Given the description of an element on the screen output the (x, y) to click on. 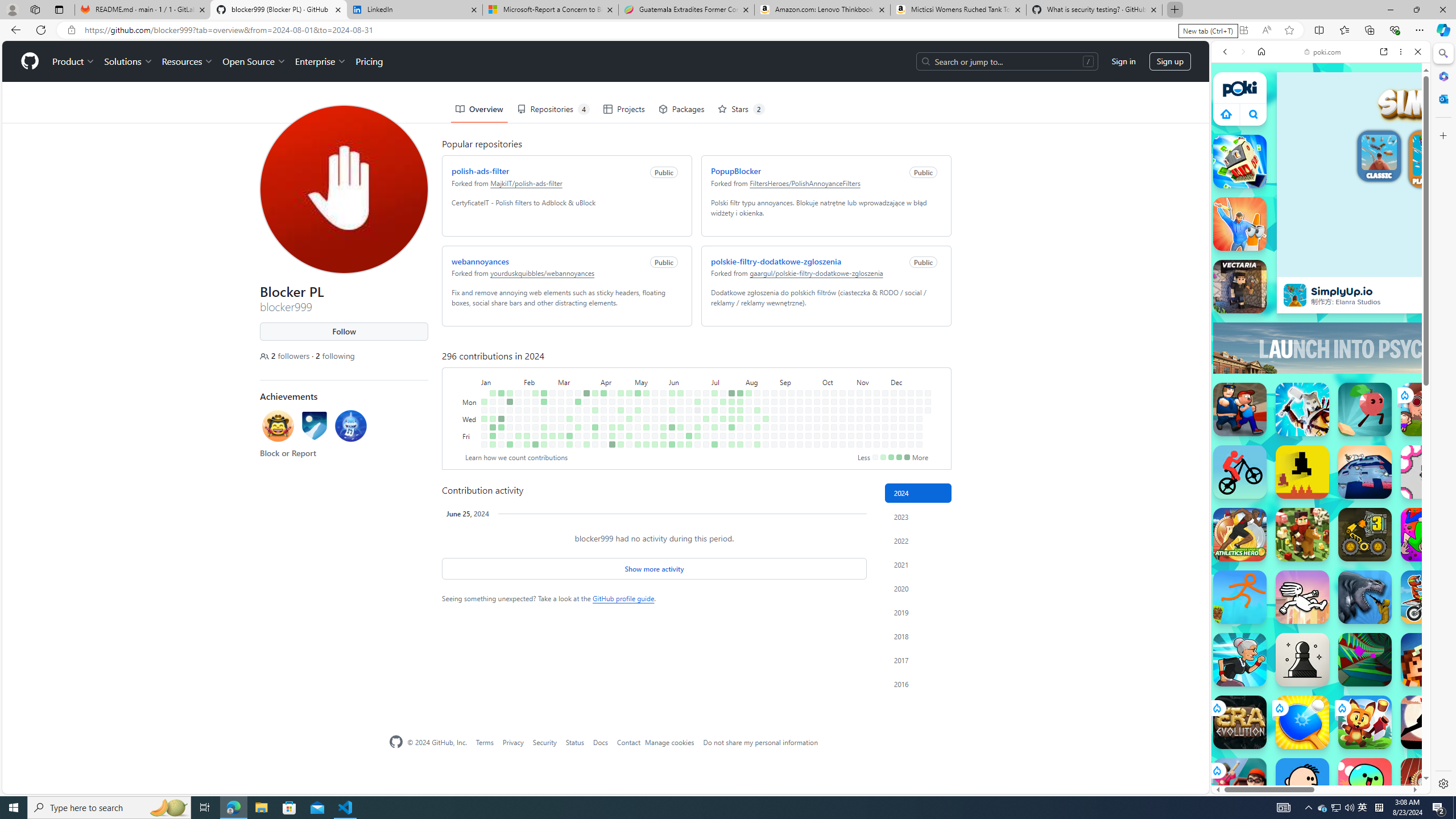
No contributions on April 12th. (603, 435)
Class: hvLtMSipvVng82x9Seuh (1294, 295)
Stickman Bike Stickman Bike (1239, 471)
No contributions on December 4th. (893, 418)
No contributions on April 9th. (603, 410)
School Escape! (1239, 784)
No contributions on May 19th. (655, 392)
Show More Shooting Games (1390, 296)
No contributions on March 26th. (586, 410)
Dreadhead Parkour Dreadhead Parkour (1302, 597)
Click to scroll right (1407, 549)
1 contribution on July 31st. (740, 418)
No contributions on January 30th. (518, 410)
No contributions on May 4th. (628, 444)
No contributions on October 31st. (850, 427)
